Given the description of an element on the screen output the (x, y) to click on. 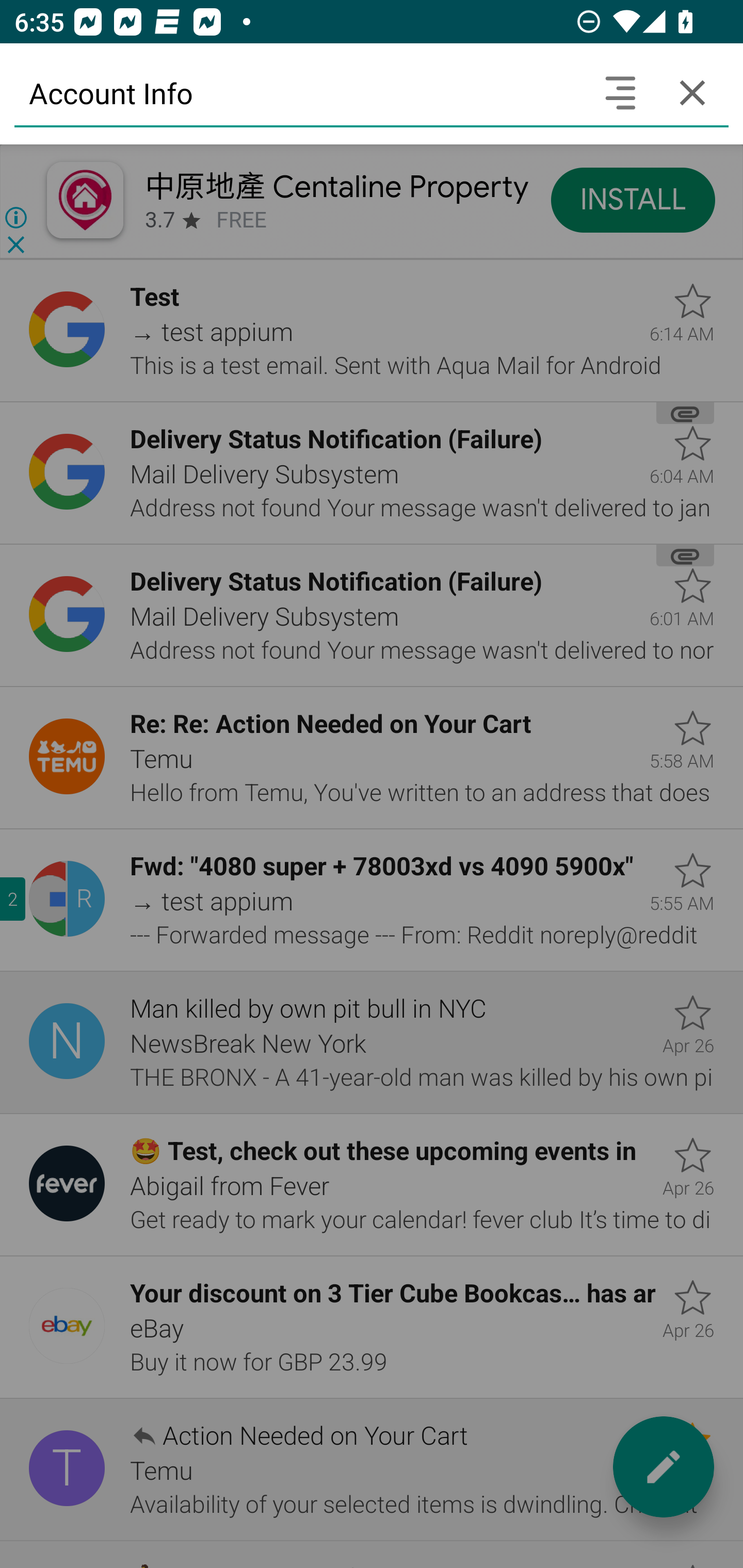
Account Info (298, 92)
Search headers and text (619, 92)
Cancel (692, 92)
